Given the description of an element on the screen output the (x, y) to click on. 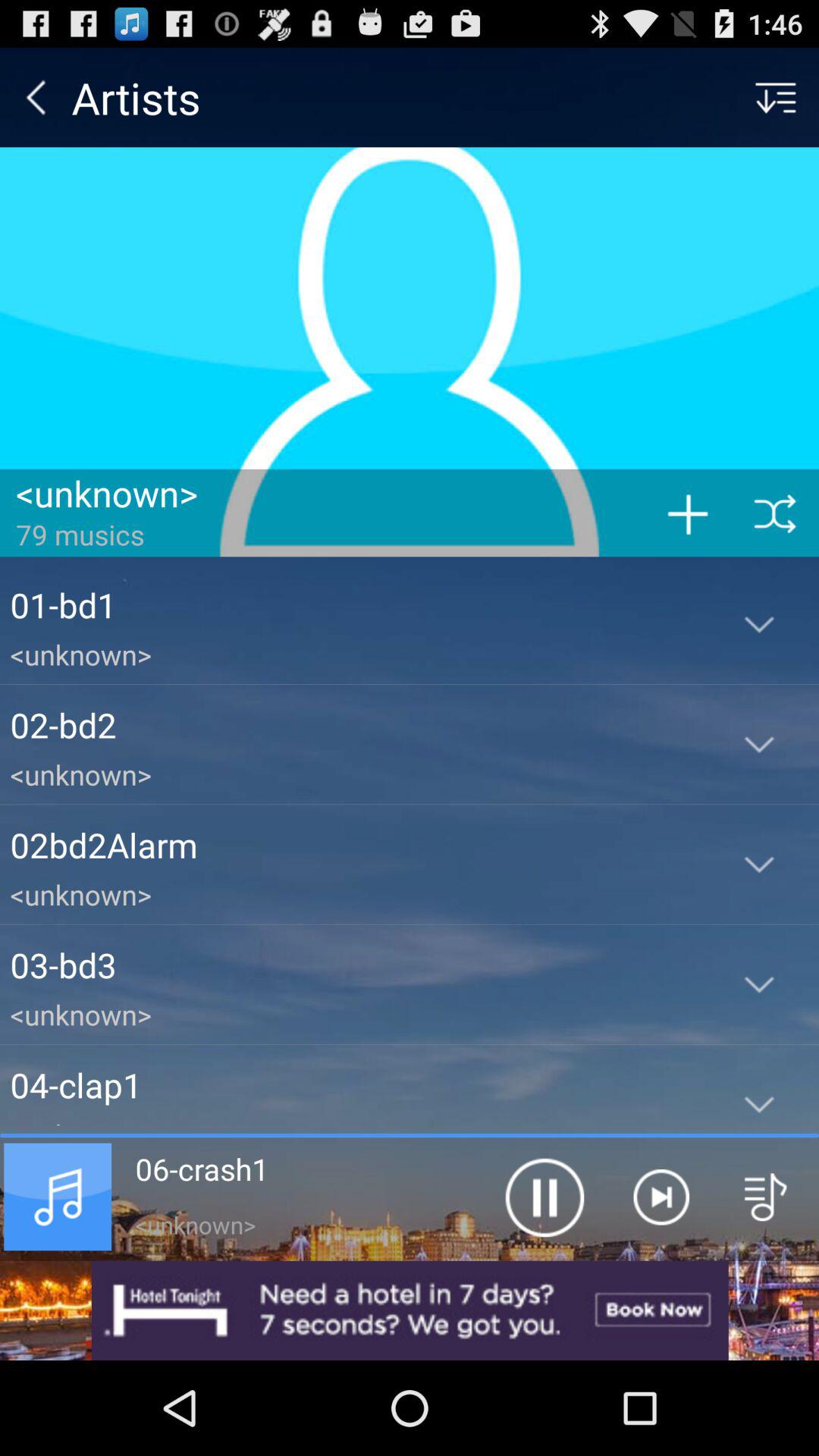
click the pause icon left side of forward symbol (544, 1196)
